Given the description of an element on the screen output the (x, y) to click on. 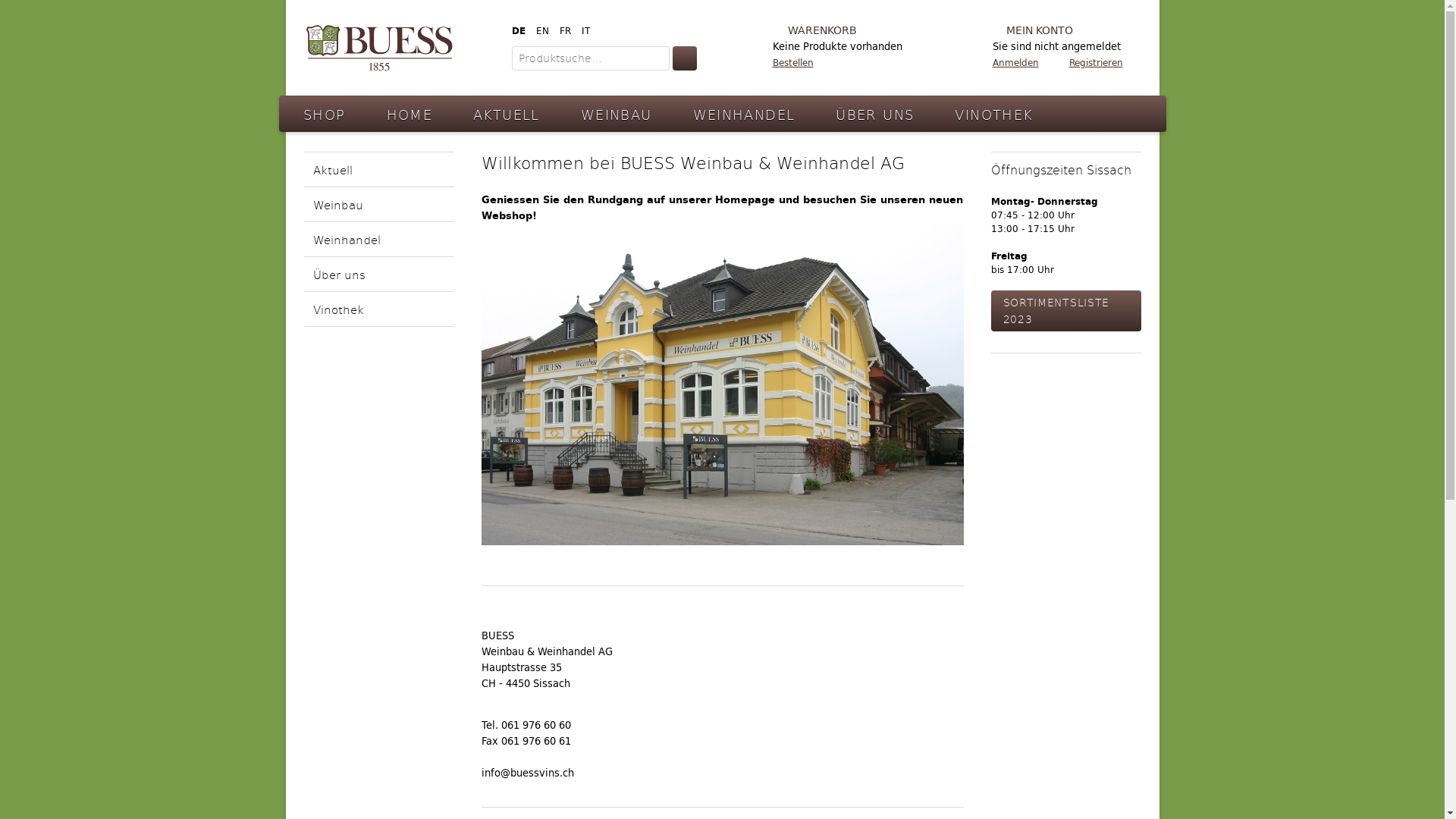
HOME Element type: text (409, 113)
SORTIMENTSLISTE 2023 Element type: text (1065, 310)
AKTUELL Element type: text (506, 113)
WARENKORB Element type: text (837, 30)
FR Element type: text (565, 30)
Bestellen Element type: text (837, 62)
VINOTHEK Element type: text (993, 113)
Suchen Element type: text (683, 58)
Weinbau Element type: text (378, 204)
WEINHANDEL Element type: text (744, 113)
Anmelden Element type: text (1014, 62)
Weinhandel Element type: text (378, 239)
SHOP Element type: text (324, 113)
MEIN KONTO Element type: text (1066, 30)
IT Element type: text (584, 30)
WEINBAU Element type: text (616, 113)
EN Element type: text (541, 30)
Registrieren Element type: text (1096, 62)
Aktuell Element type: text (378, 169)
Vinothek Element type: text (378, 308)
DE Element type: text (517, 30)
